Given the description of an element on the screen output the (x, y) to click on. 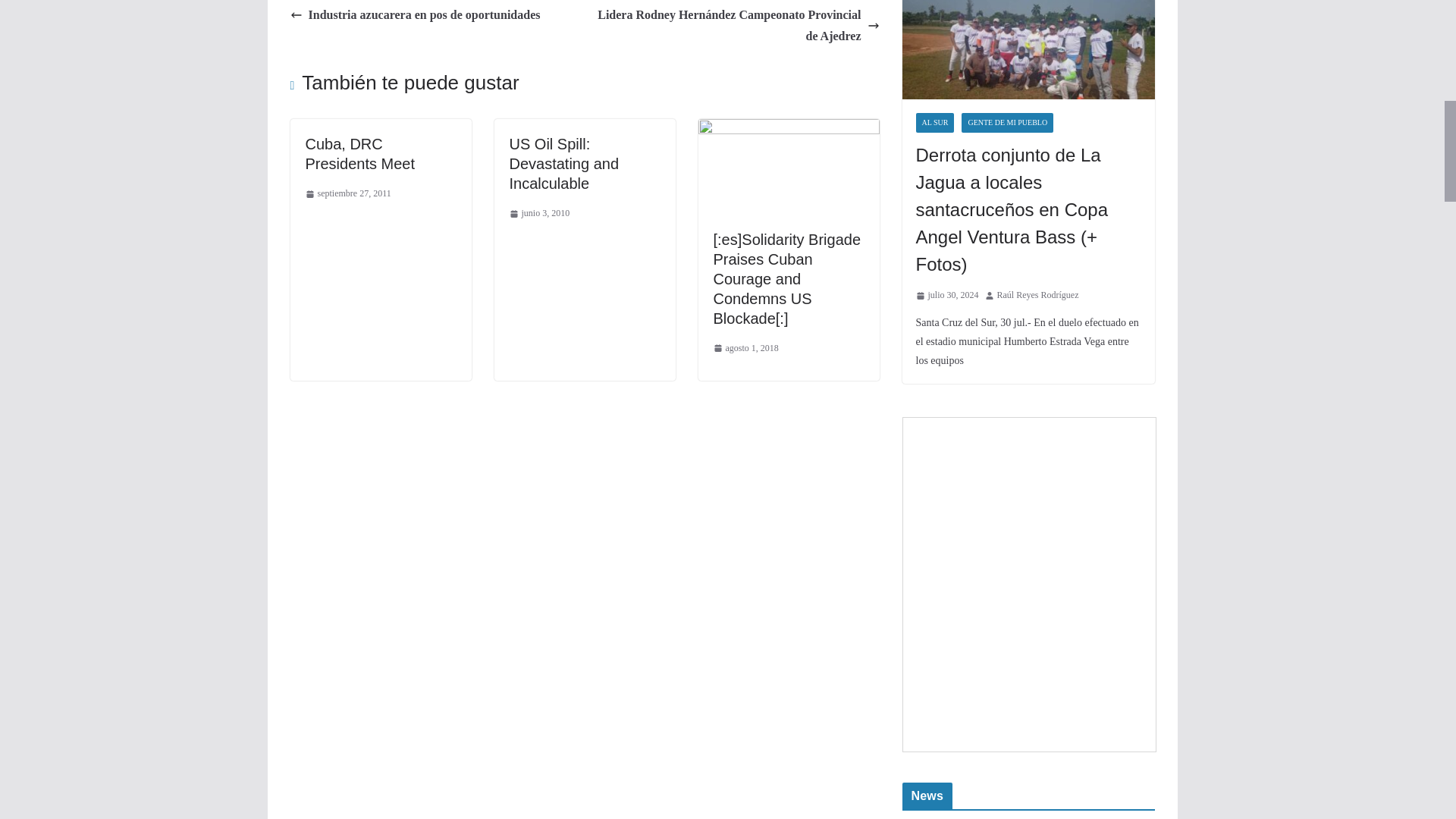
Industria azucarera en pos de oportunidades (414, 15)
US Oil Spill: Devastating and Incalculable (564, 163)
GENTE DE MI PUEBLO (1006, 122)
agosto 1, 2018 (745, 348)
12:00 am (539, 213)
AL SUR (935, 122)
Cuba, DRC Presidents Meet (359, 153)
12:00 am (347, 193)
Cuba, DRC Presidents Meet (359, 153)
junio 3, 2010 (539, 213)
4:00 am (745, 348)
septiembre 27, 2011 (347, 193)
US Oil Spill: Devastating and Incalculable (564, 163)
